Given the description of an element on the screen output the (x, y) to click on. 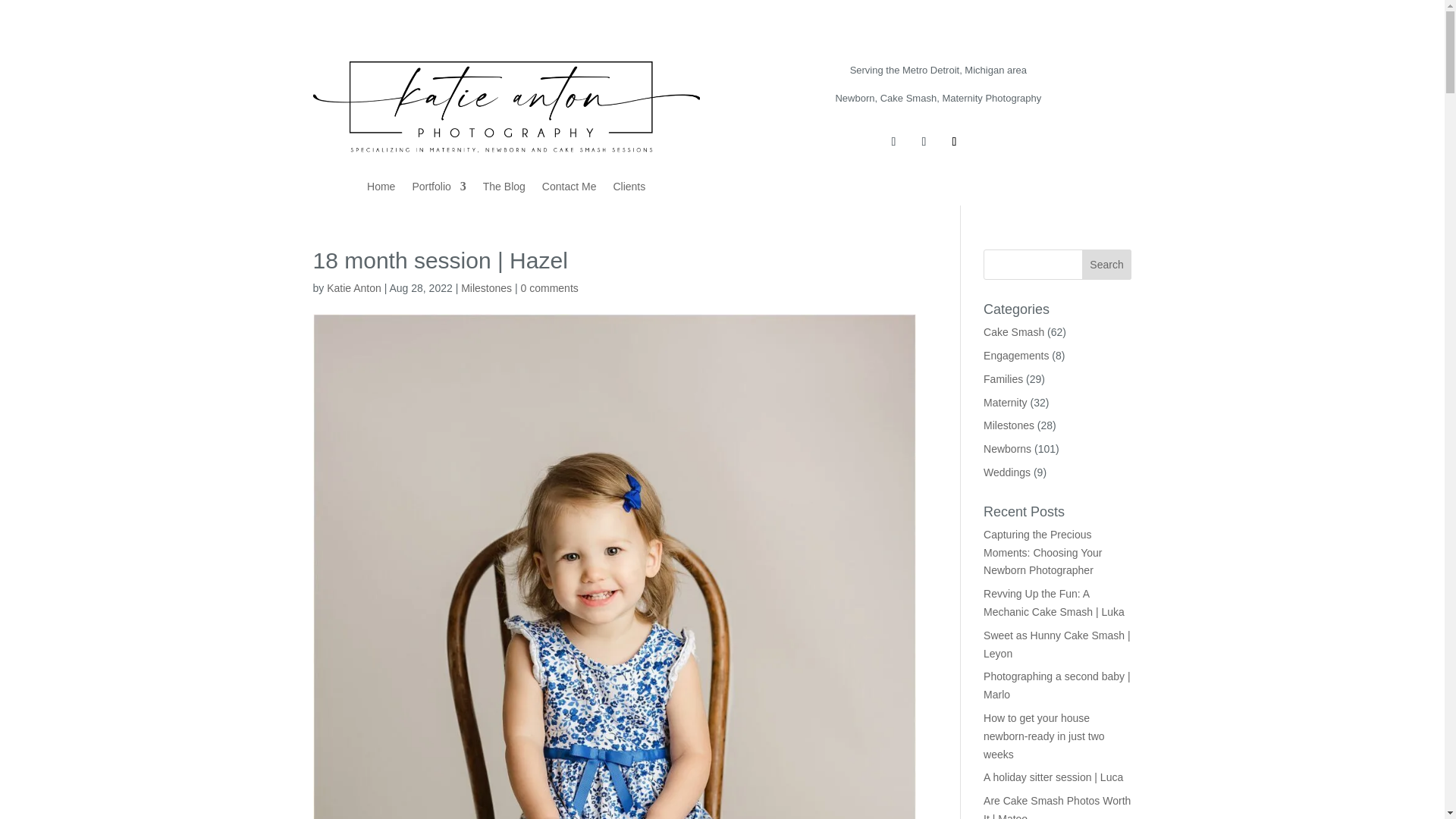
0 comments (549, 287)
Contact Me (568, 189)
Newborns (1007, 449)
Search (1106, 264)
How to get your house newborn-ready in just two weeks (1044, 735)
Families (1003, 378)
Follow on Instagram (924, 141)
Milestones (486, 287)
Engagements (1016, 355)
Search (1106, 264)
Posts by Katie Anton (353, 287)
Follow on Facebook (893, 141)
Cake Smash (1013, 331)
Follow on TikTok (954, 141)
